Given the description of an element on the screen output the (x, y) to click on. 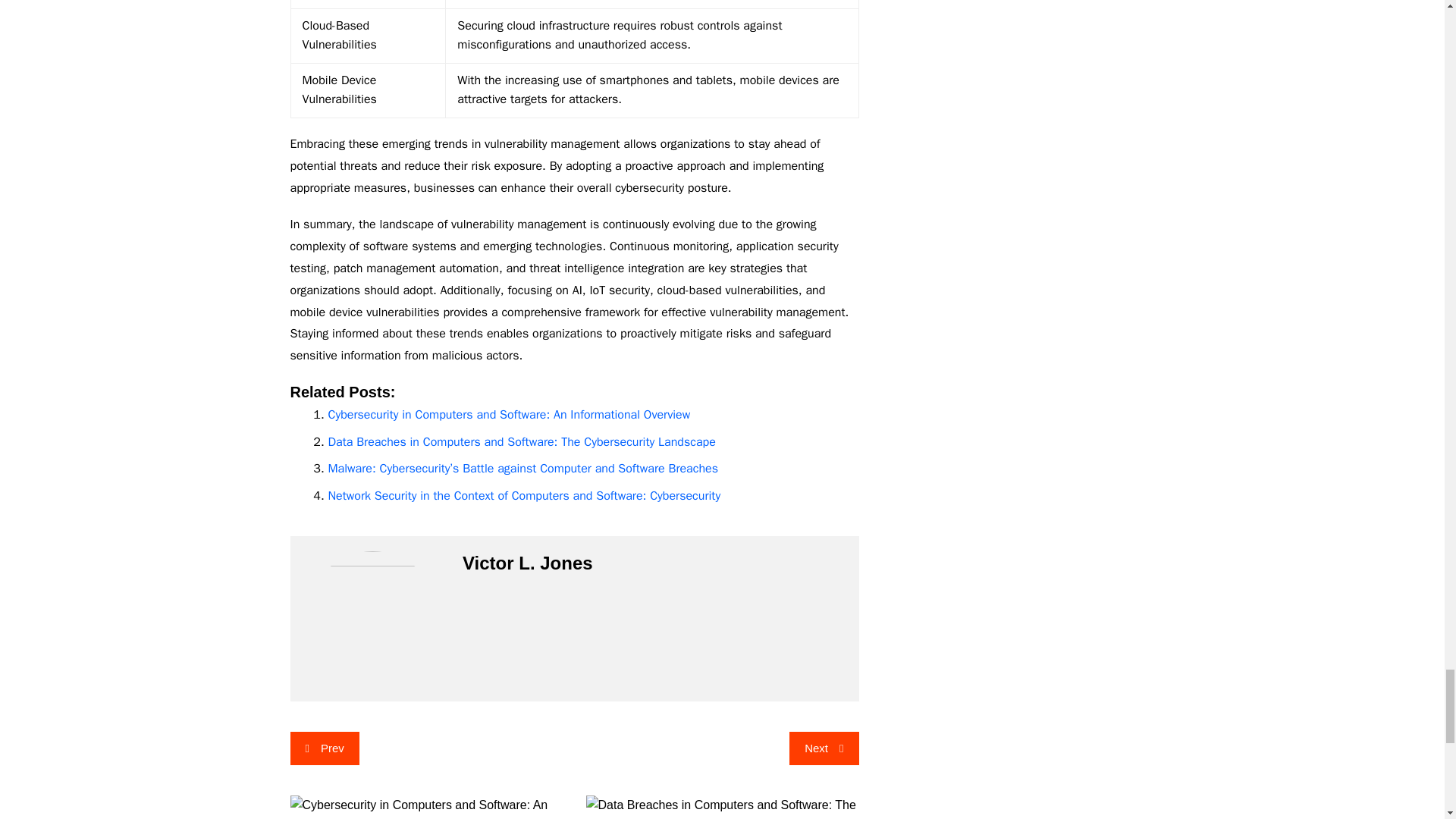
Prev (323, 748)
Next (824, 748)
